Given the description of an element on the screen output the (x, y) to click on. 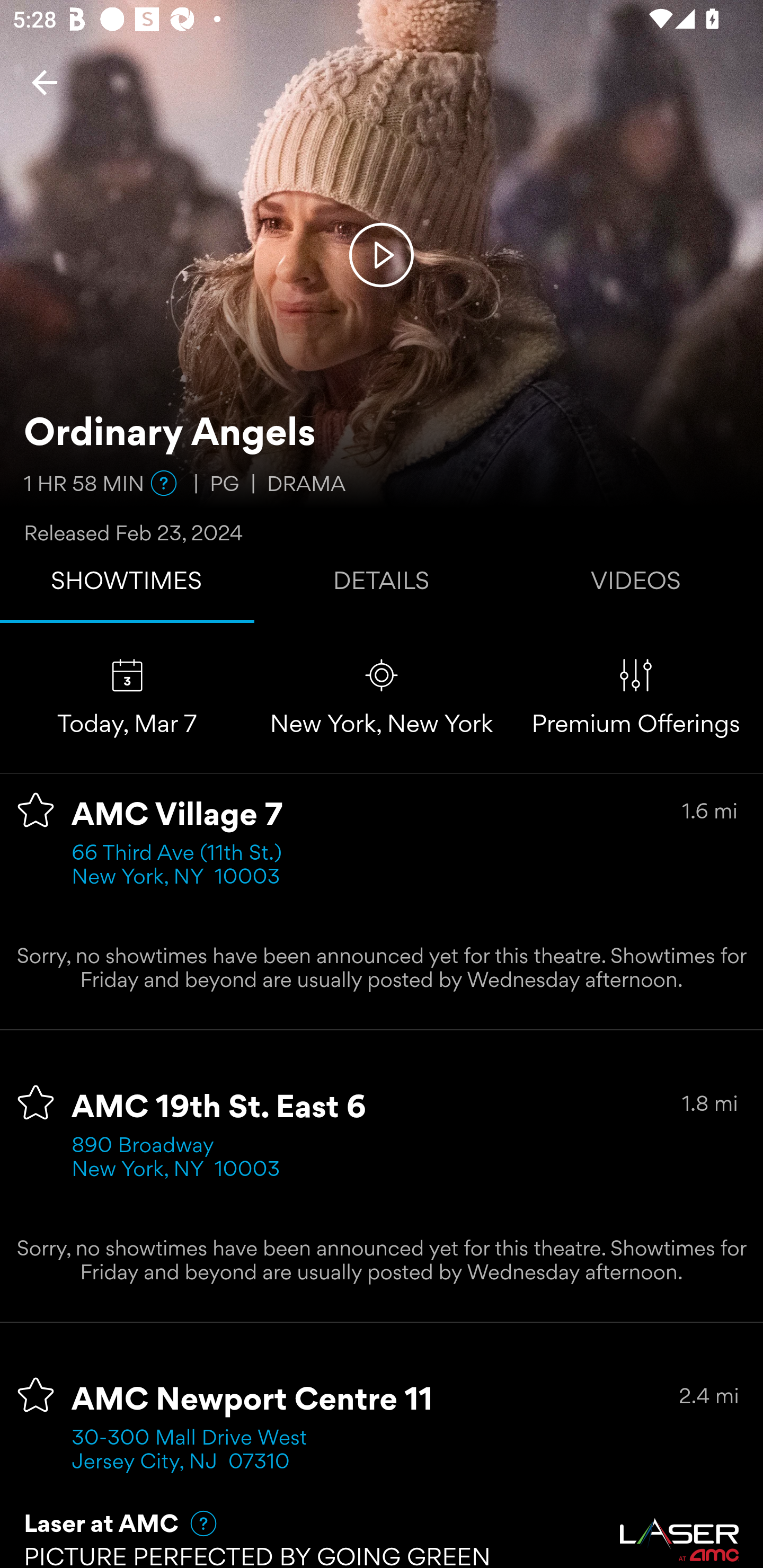
Back (44, 82)
Play (381, 254)
Help (163, 482)
SHOWTIMES
Tab 1 of 3 (127, 584)
DETAILS
Tab 2 of 3 (381, 584)
VIDEOS
Tab 3 of 3 (635, 584)
Change selected day
Today, Mar 7 (127, 697)
Change location
New York, New York (381, 697)
Premium Offerings
Premium Offerings (635, 697)
AMC Village 7 (177, 816)
66 Third Ave (11th St.)  
New York, NY  10003 (182, 866)
AMC 19th St. East 6 (219, 1108)
890 Broadway  
New York, NY  10003 (176, 1158)
AMC Newport Centre 11 (252, 1400)
30-300 Mall Drive West  
Jersey City, NJ  07310 (195, 1450)
Help (195, 1522)
